Given the description of an element on the screen output the (x, y) to click on. 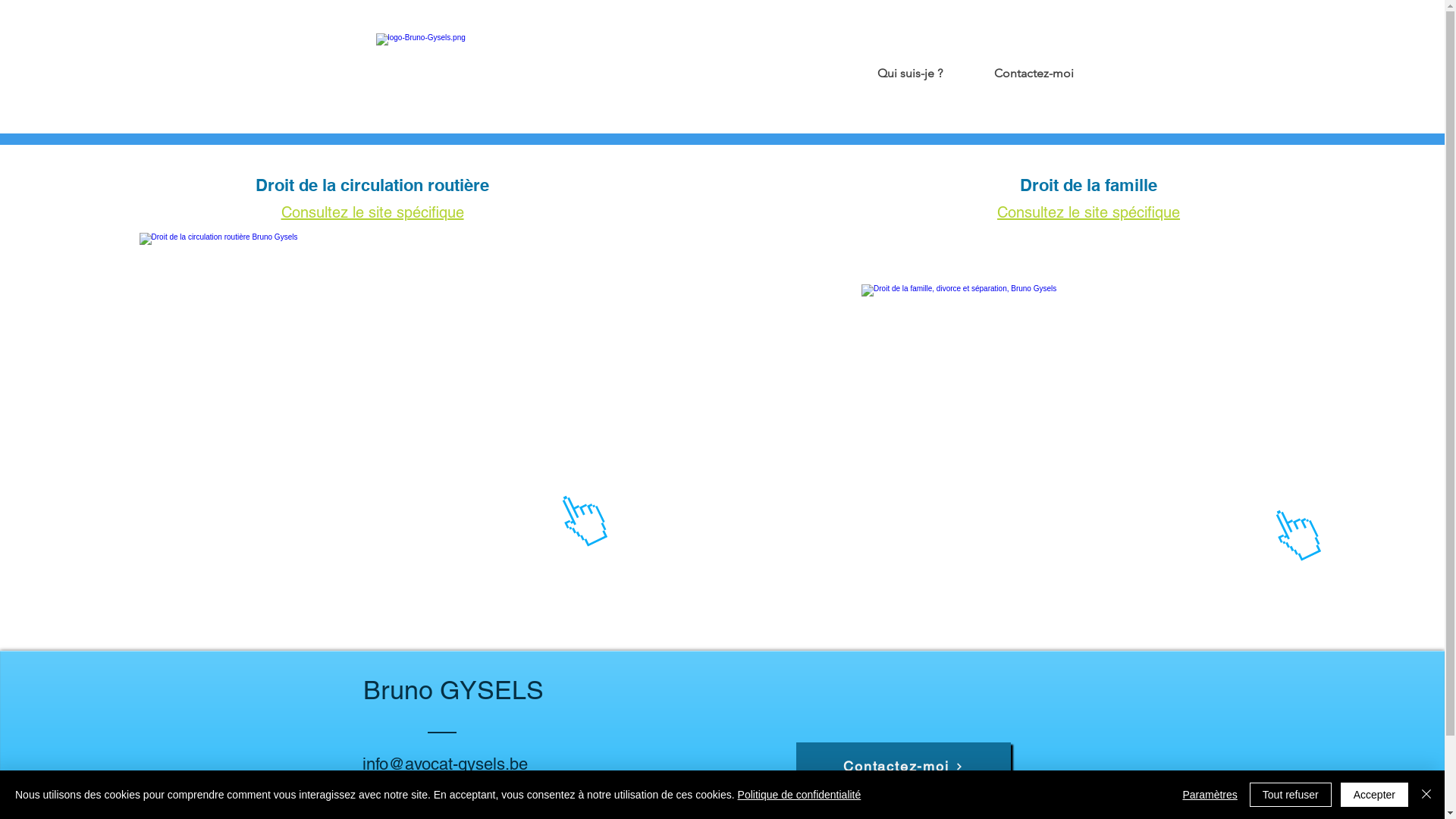
Contactez-moi Element type: text (1014, 66)
Tout refuser Element type: text (1290, 794)
Accepter Element type: text (1374, 794)
Qui suis-je ? Element type: text (890, 66)
info@avocat-gysels.be Element type: text (444, 763)
0485 24 20 24 Element type: text (414, 786)
Bruno Gysels Avocat Element type: hover (496, 66)
Contactez-moi Element type: text (903, 766)
